Given the description of an element on the screen output the (x, y) to click on. 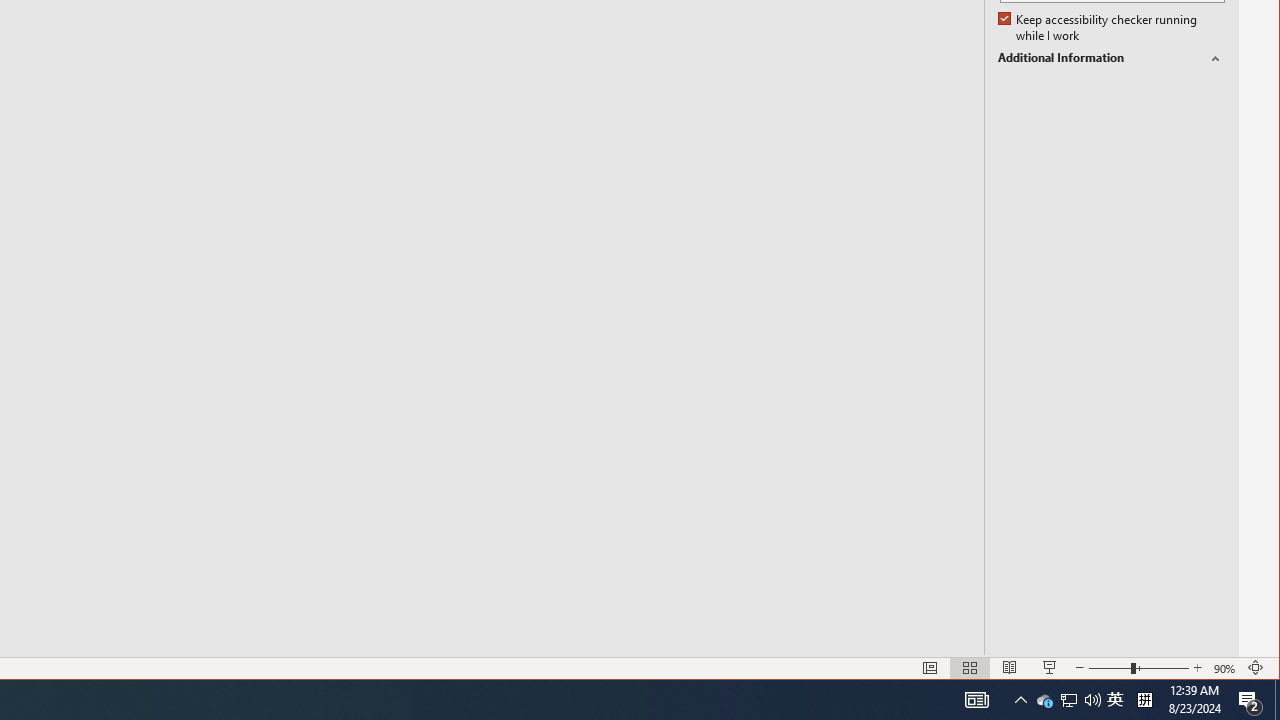
Zoom (1139, 668)
Zoom Out (1110, 668)
Normal (929, 668)
Q2790: 100% (1092, 699)
Zoom In (1198, 668)
